Given the description of an element on the screen output the (x, y) to click on. 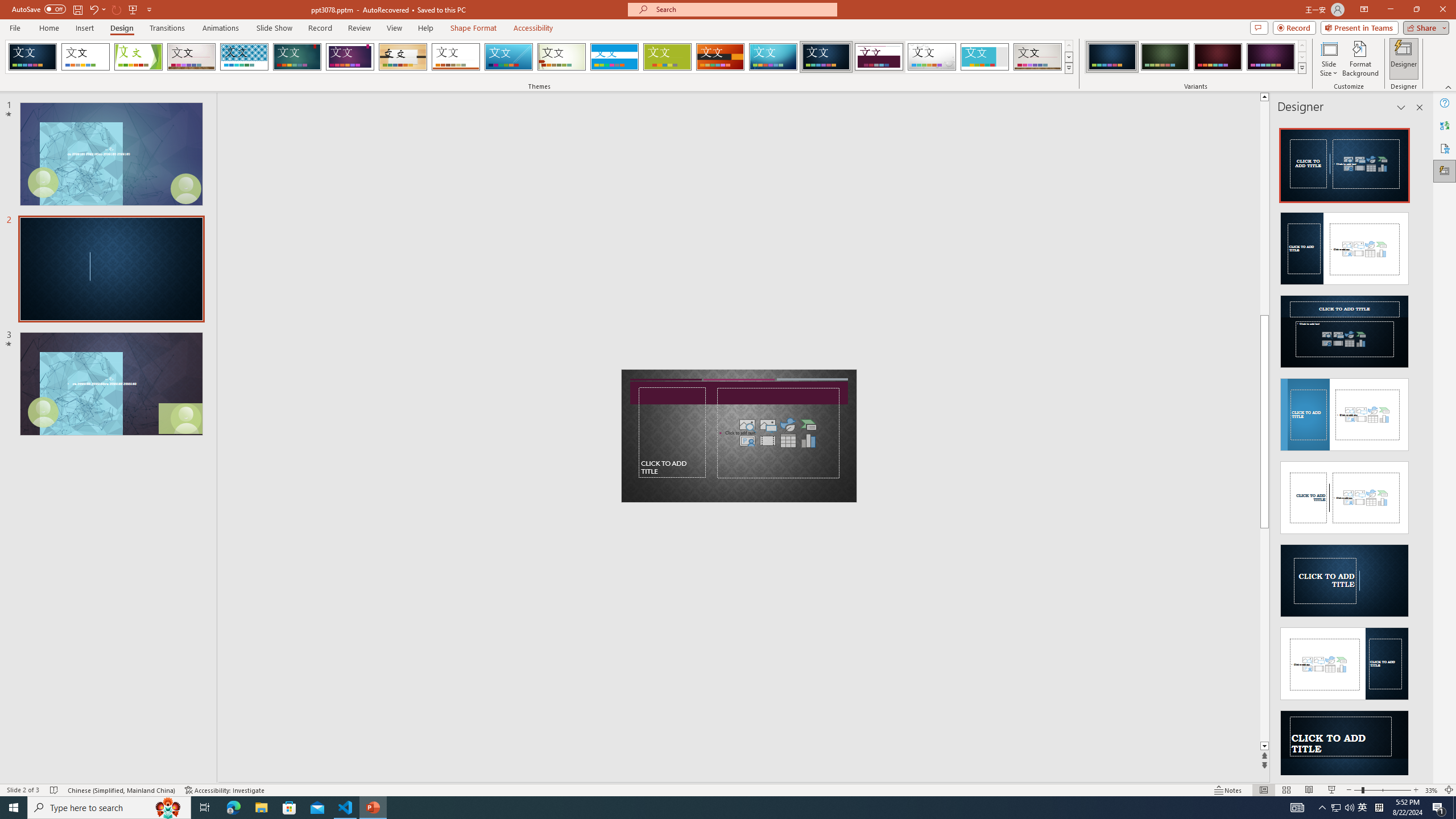
Format Background (1360, 58)
Themes (1068, 67)
Design (122, 28)
Design Idea (1344, 742)
Accessibility Checker Accessibility: Investigate (224, 790)
File Tab (15, 27)
Frame (984, 56)
Close pane (1419, 107)
Zoom In (1415, 790)
Damask (826, 56)
Designer (1444, 170)
Recommended Design: Design Idea (1344, 161)
Designer (1403, 58)
